Given the description of an element on the screen output the (x, y) to click on. 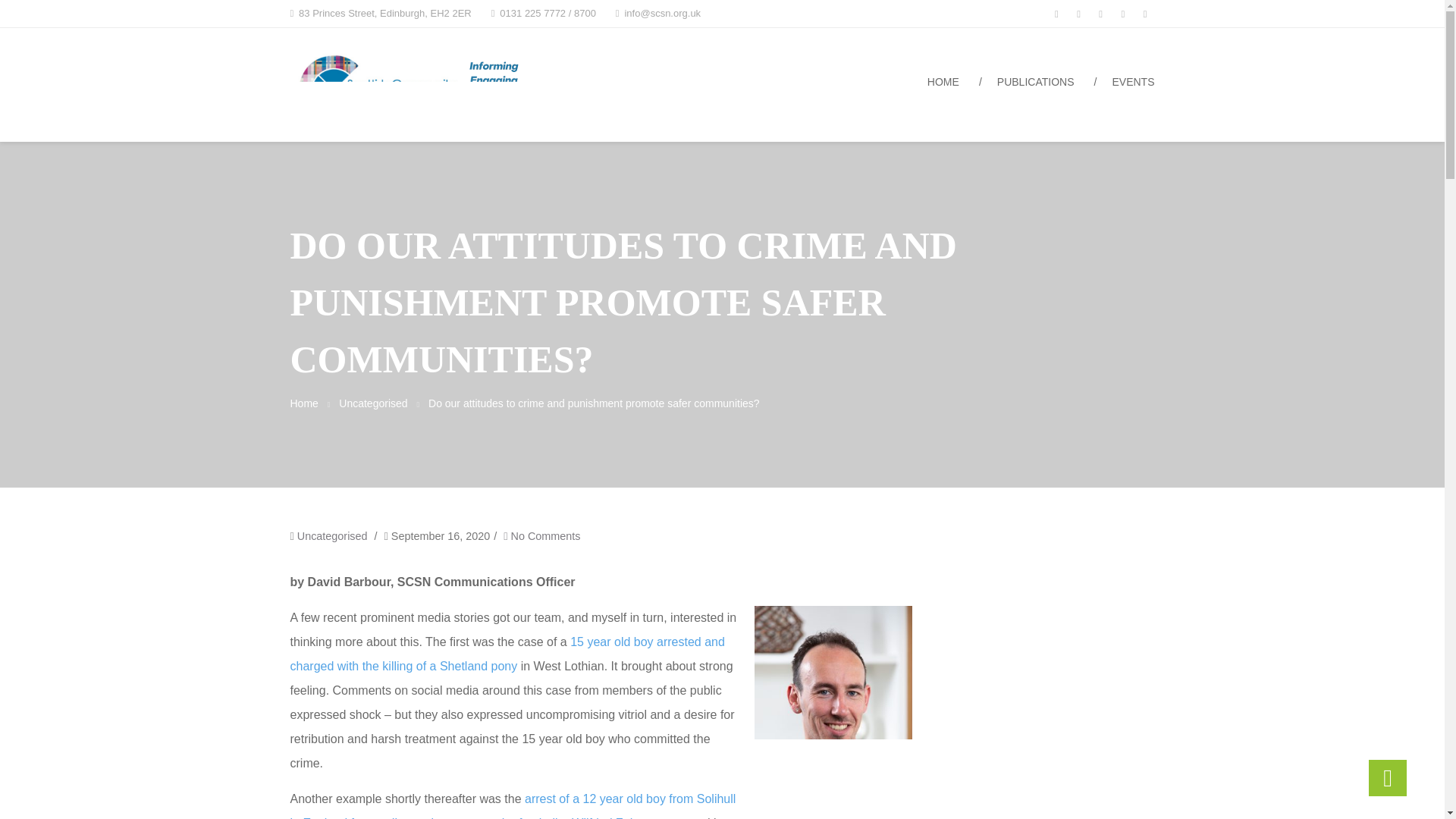
Safer Communities Scotland (729, 56)
HOME (943, 85)
PUBLICATIONS (1035, 85)
